Given the description of an element on the screen output the (x, y) to click on. 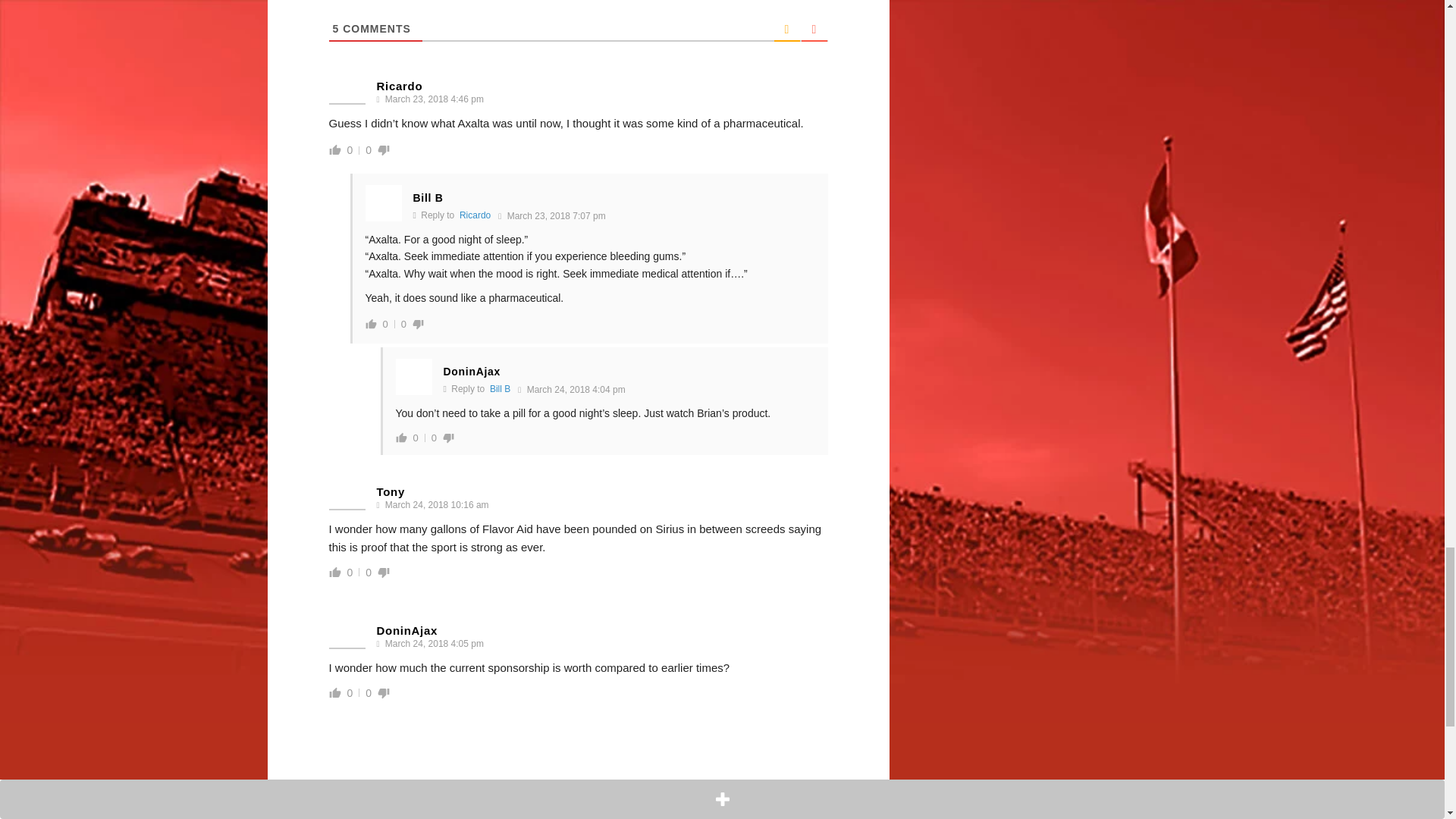
0 (349, 150)
March 23, 2018 4:46 pm (432, 99)
Ricardo (475, 214)
